Given the description of an element on the screen output the (x, y) to click on. 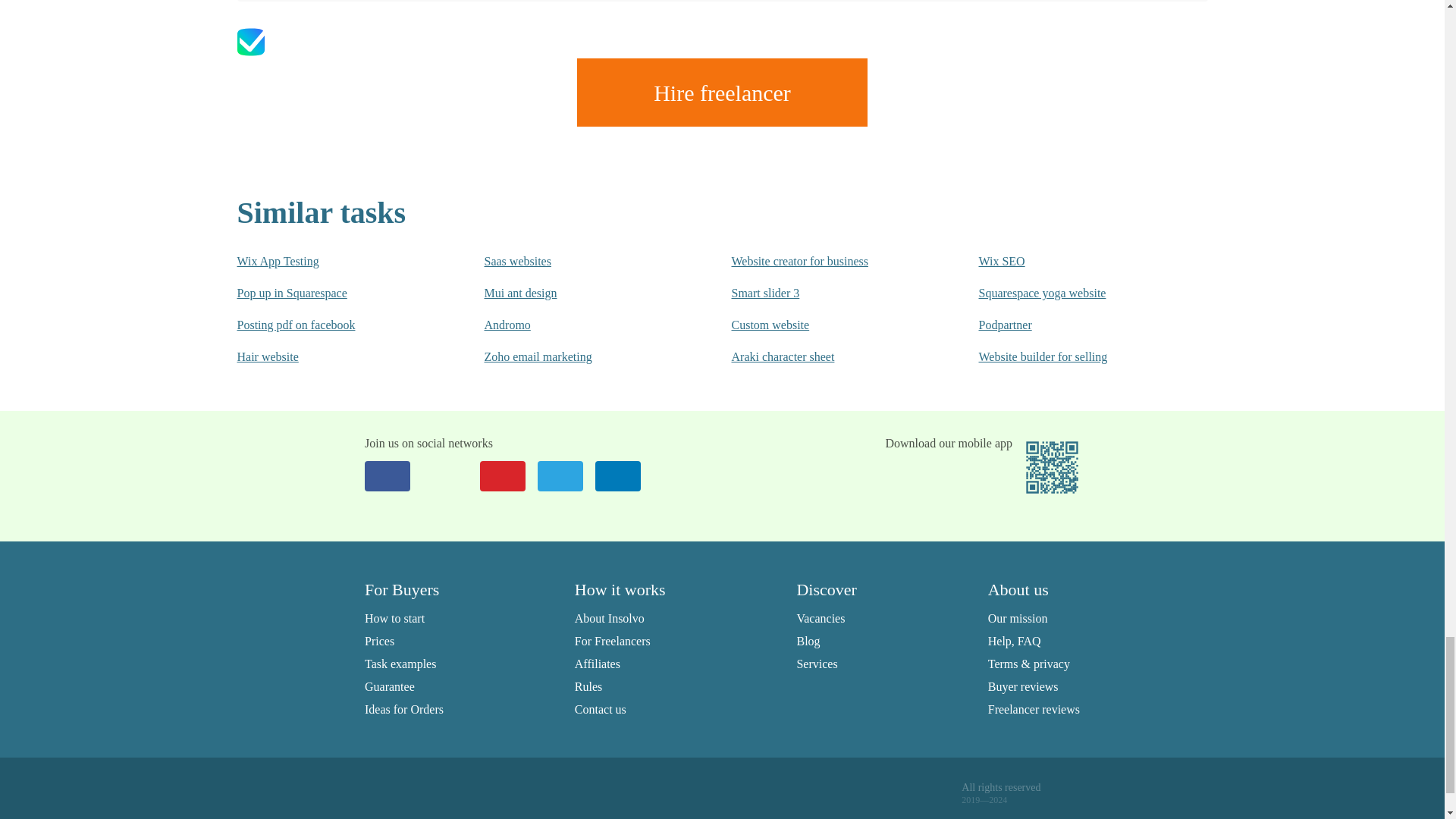
Custom website (823, 324)
Affiliates (597, 663)
Mui ant design (576, 293)
Zoho email marketing (576, 356)
Pop up in Squarespace (329, 293)
For Freelancers (612, 640)
Araki character sheet (823, 356)
Saas websites (576, 261)
Squarespace yoga website (1071, 293)
About Insolvo (610, 617)
Andromo (576, 324)
How to start (395, 617)
Hair website (329, 356)
Smart slider 3 (823, 293)
Task examples (400, 663)
